Given the description of an element on the screen output the (x, y) to click on. 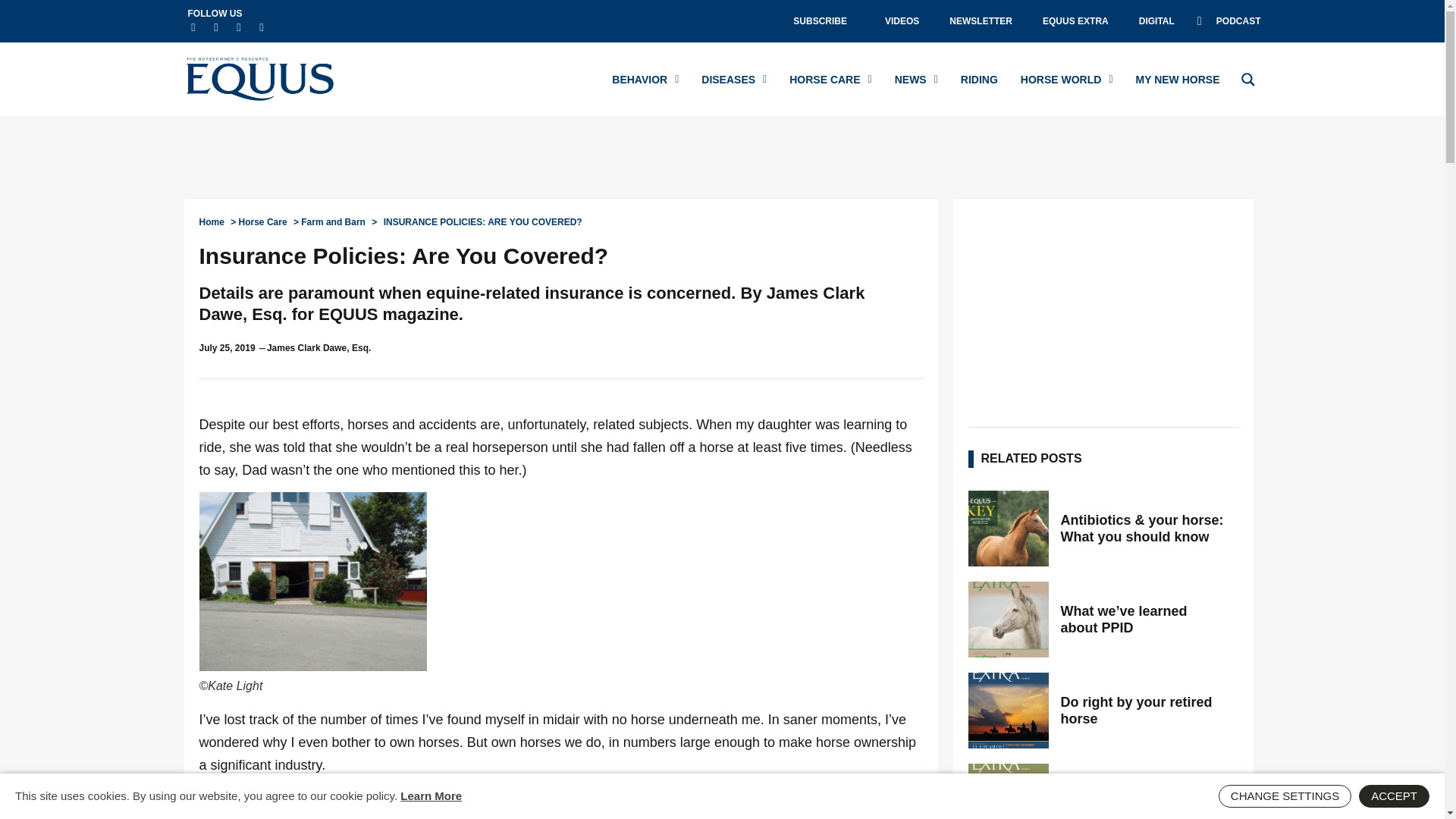
PODCAST (1228, 20)
Do right by your retired horse (1008, 710)
DIGITAL (1156, 21)
HORSE CARE (829, 79)
NEWSLETTER (980, 21)
3rd party ad content (721, 157)
Do right by your retired horse (1143, 710)
EQUUS EXTRA (1075, 21)
NEWS (916, 79)
DISEASES (734, 79)
SUBSCRIBE (823, 21)
VIDEOS (901, 21)
BEHAVIOR (644, 79)
3rd party ad content (1103, 309)
